Given the description of an element on the screen output the (x, y) to click on. 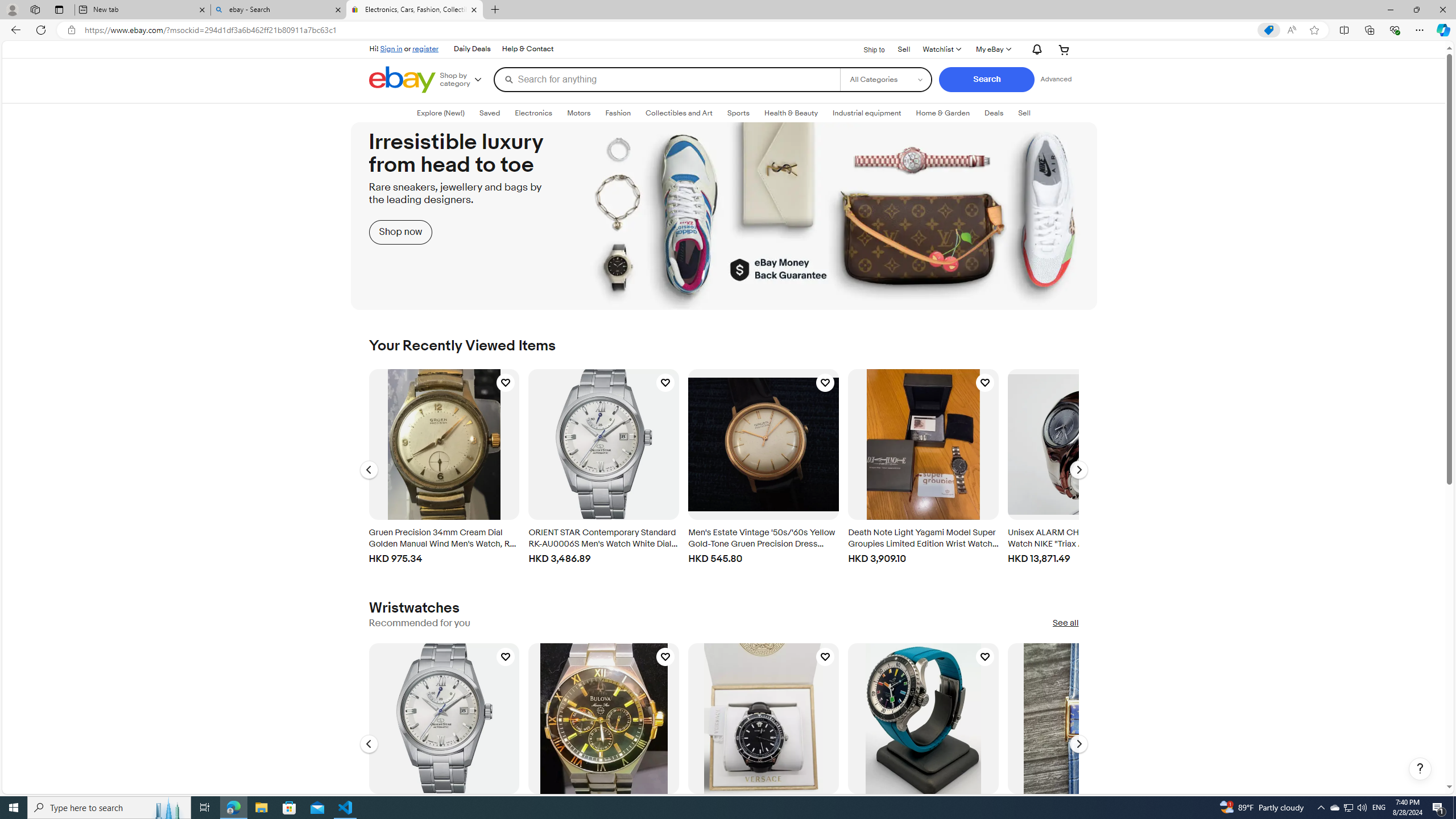
Health & Beauty (791, 112)
Go to the previous slide, Wristwatches - Carousel (368, 743)
register (425, 48)
Breitling Superocean Automatic 42 A17375211B2S1- Brand New (923, 717)
Home & Garden (942, 112)
Wristwatches (414, 607)
AutomationID: gh-shipto-click (866, 48)
AutomationID: gh-p-2 (904, 48)
AutomationID: gh-p-3 (527, 49)
eBay Home (401, 79)
